Given the description of an element on the screen output the (x, y) to click on. 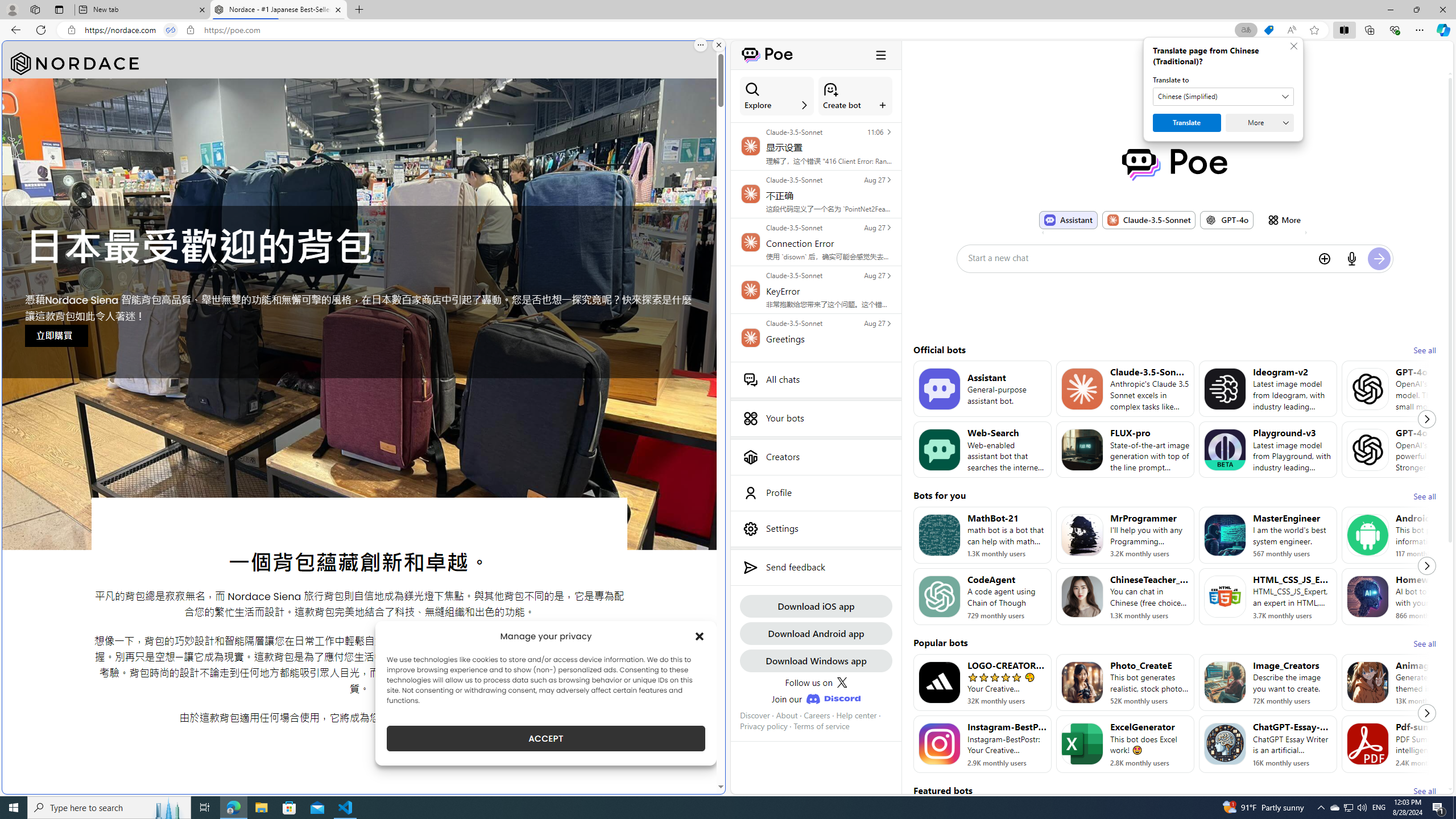
See all (1424, 790)
More (1283, 219)
Next (1426, 713)
Bot image for ChineseTeacher_Lily (1081, 596)
Bot image for Web-Search (938, 449)
Help center (855, 714)
Translate (1187, 122)
